Given the description of an element on the screen output the (x, y) to click on. 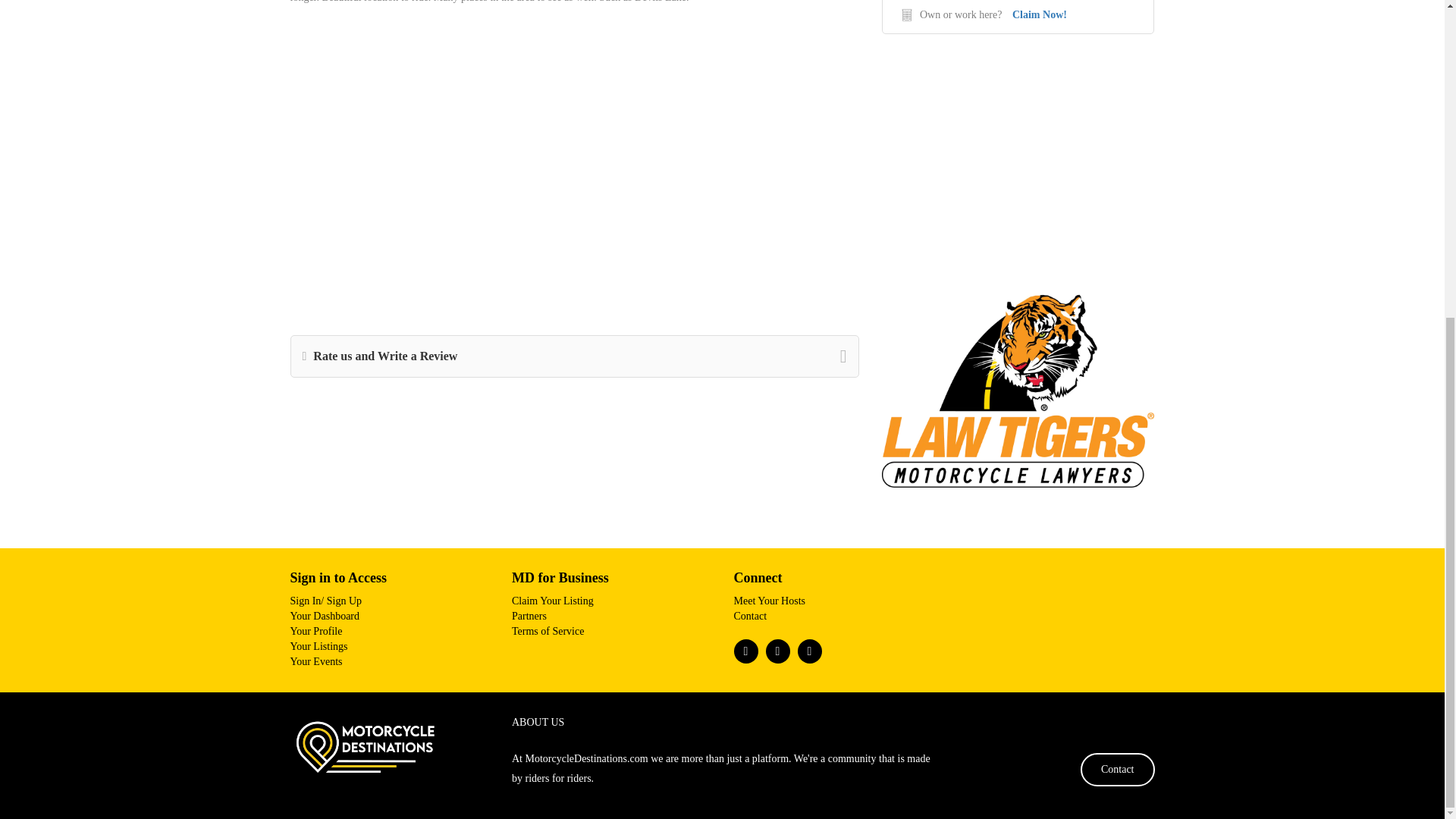
Advertisement (1017, 162)
